Given the description of an element on the screen output the (x, y) to click on. 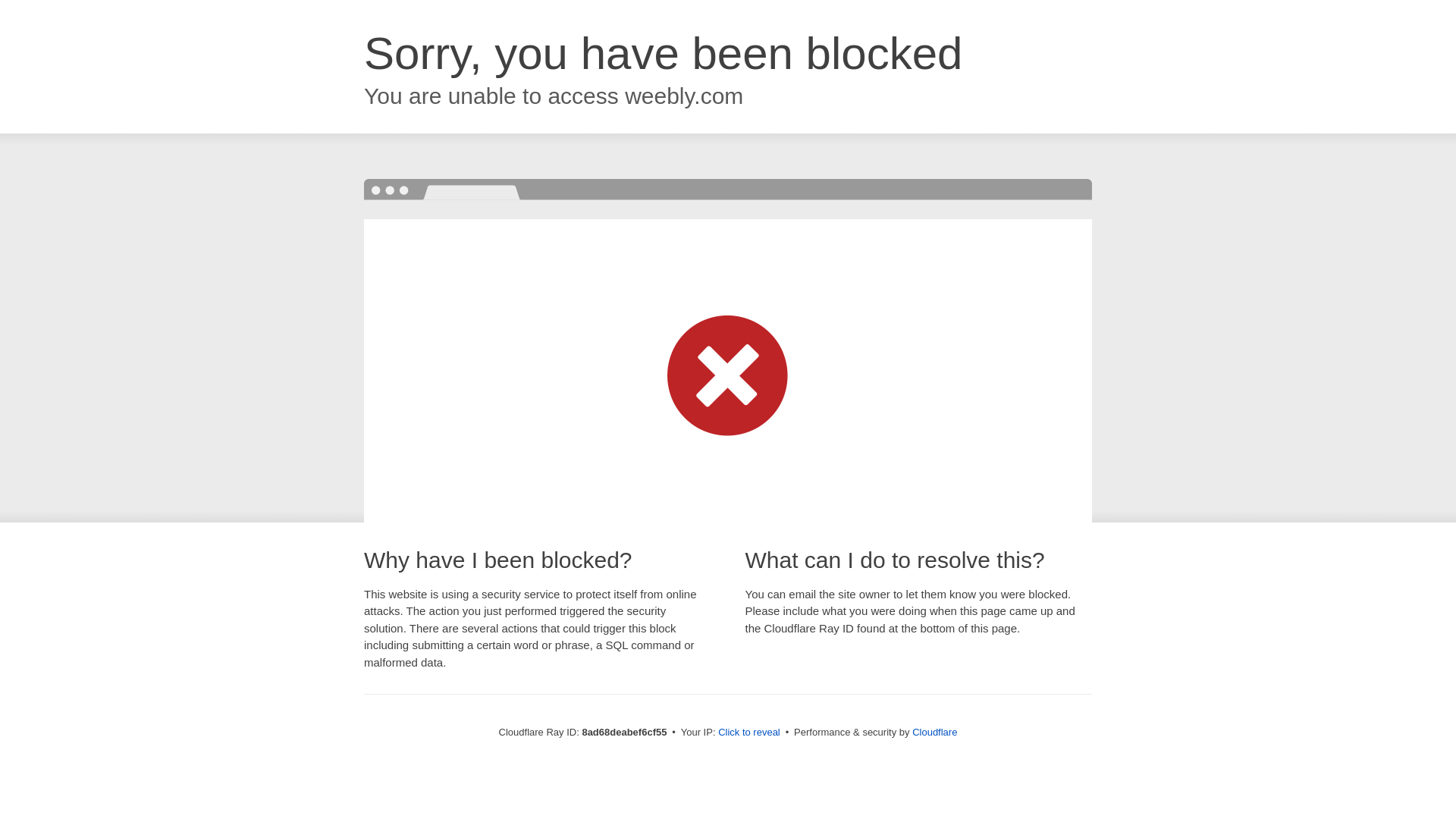
Click to reveal (748, 732)
Cloudflare (934, 731)
